Given the description of an element on the screen output the (x, y) to click on. 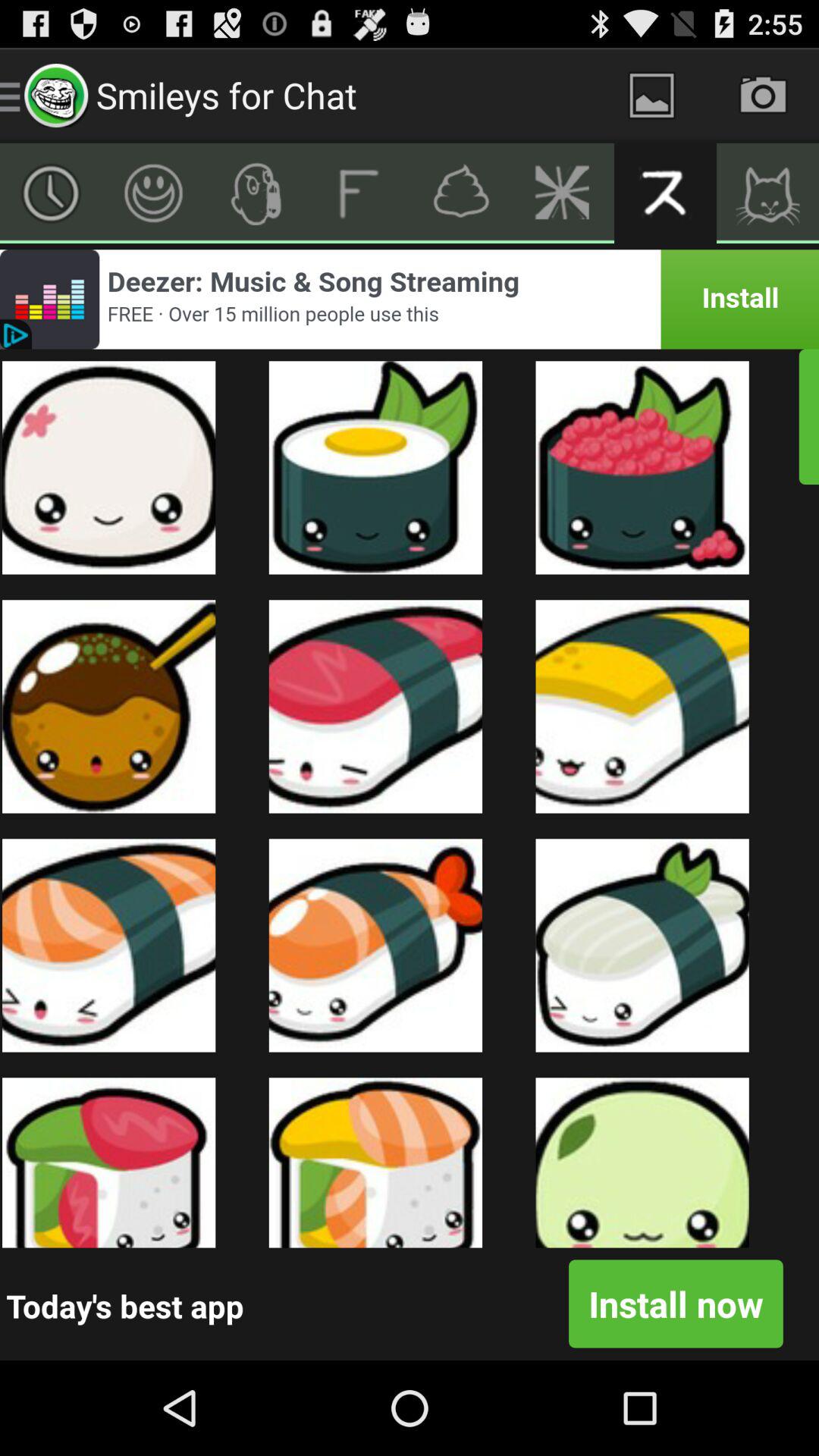
symbols (255, 193)
